Given the description of an element on the screen output the (x, y) to click on. 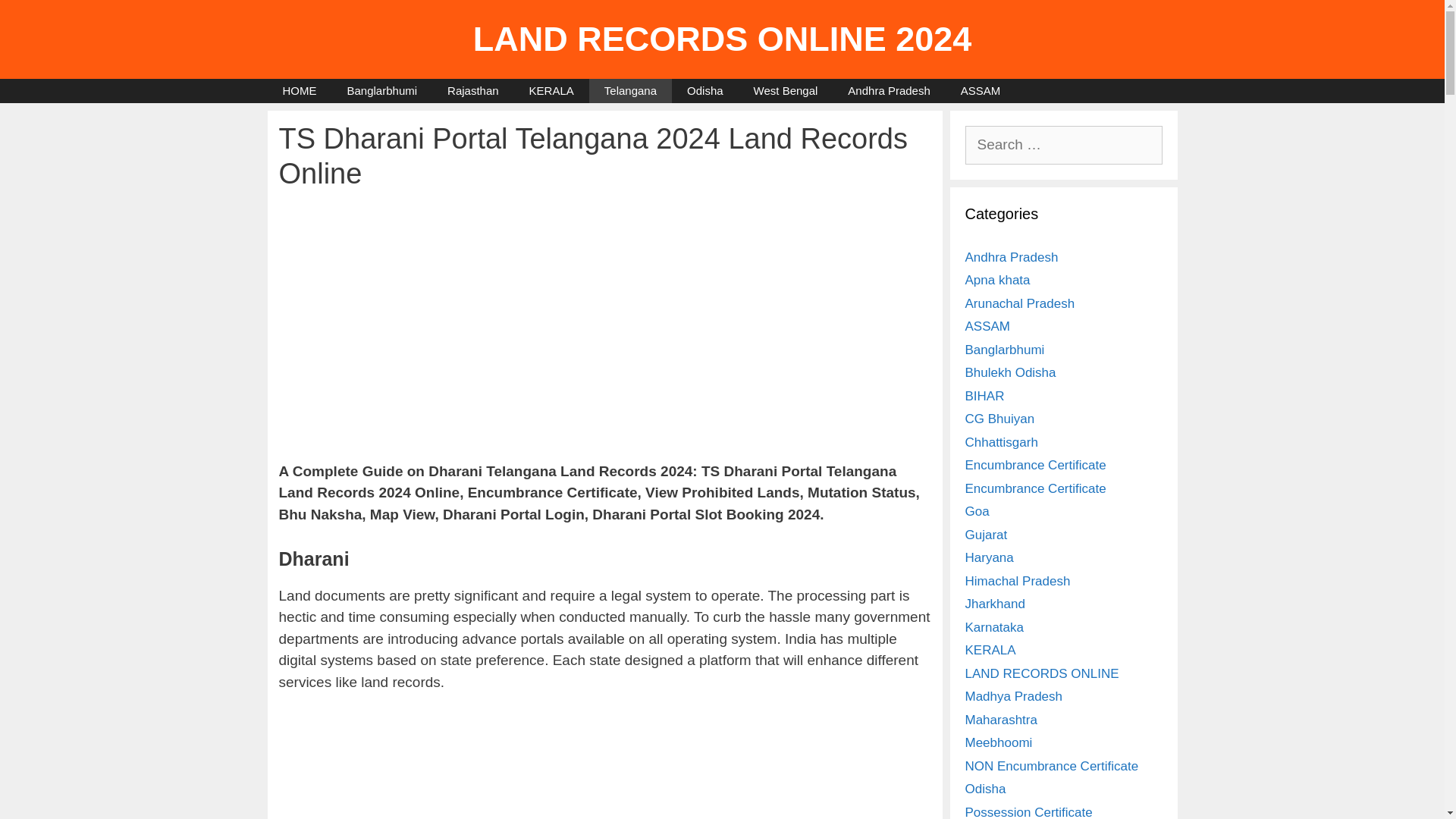
ASSAM (980, 90)
CG Bhuiyan (998, 418)
Arunachal Pradesh (1018, 302)
Encumbrance Certificate (1034, 487)
West Bengal (785, 90)
LAND RECORDS ONLINE 2024 (722, 38)
Himachal Pradesh (1016, 580)
Apna khata (996, 279)
Rajasthan (472, 90)
Haryana (988, 557)
Goa (975, 511)
3rd party ad content (605, 766)
Encumbrance Certificate (1034, 464)
Andhra Pradesh (1010, 257)
